Given the description of an element on the screen output the (x, y) to click on. 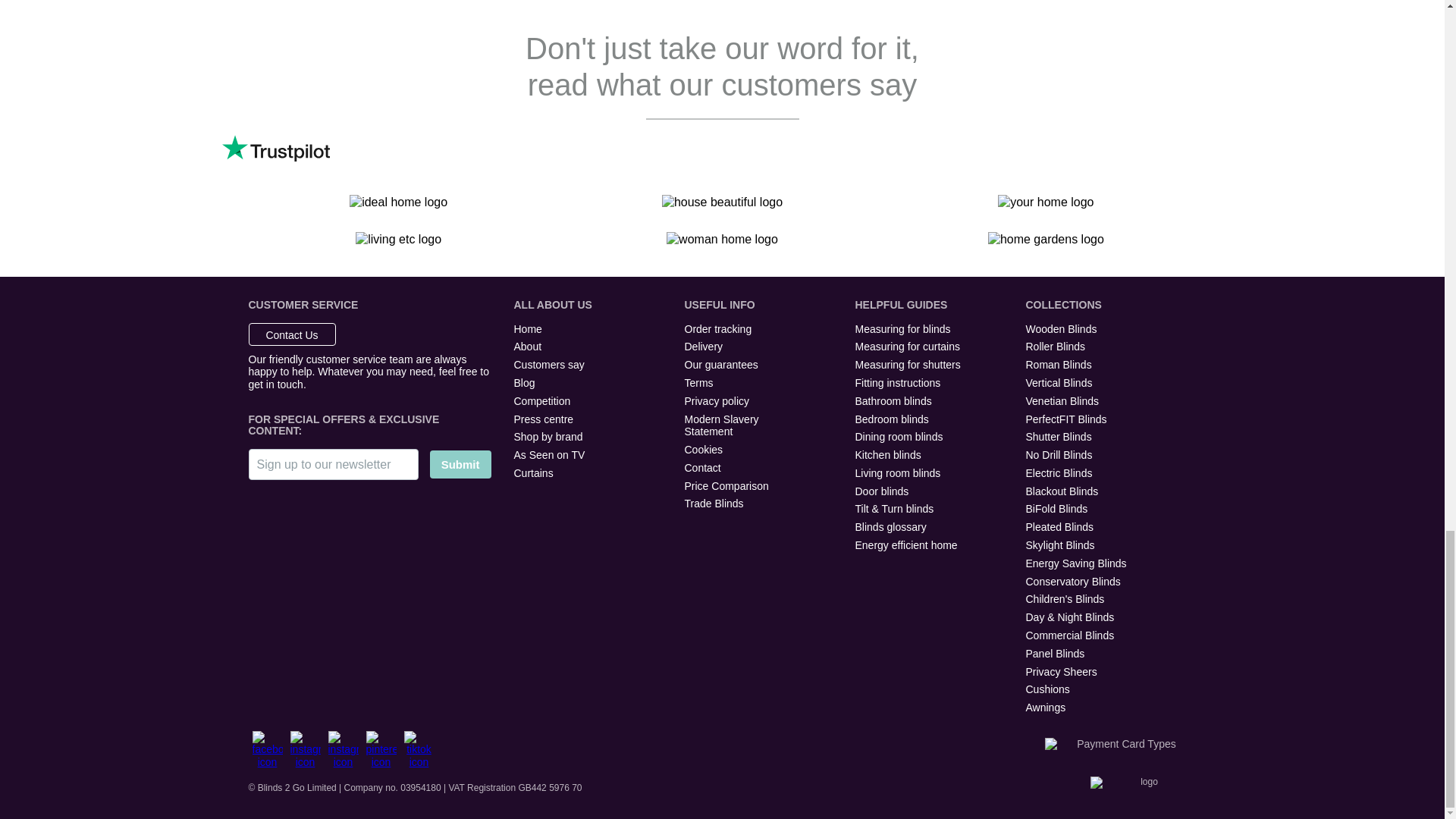
Submit (460, 464)
